Given the description of an element on the screen output the (x, y) to click on. 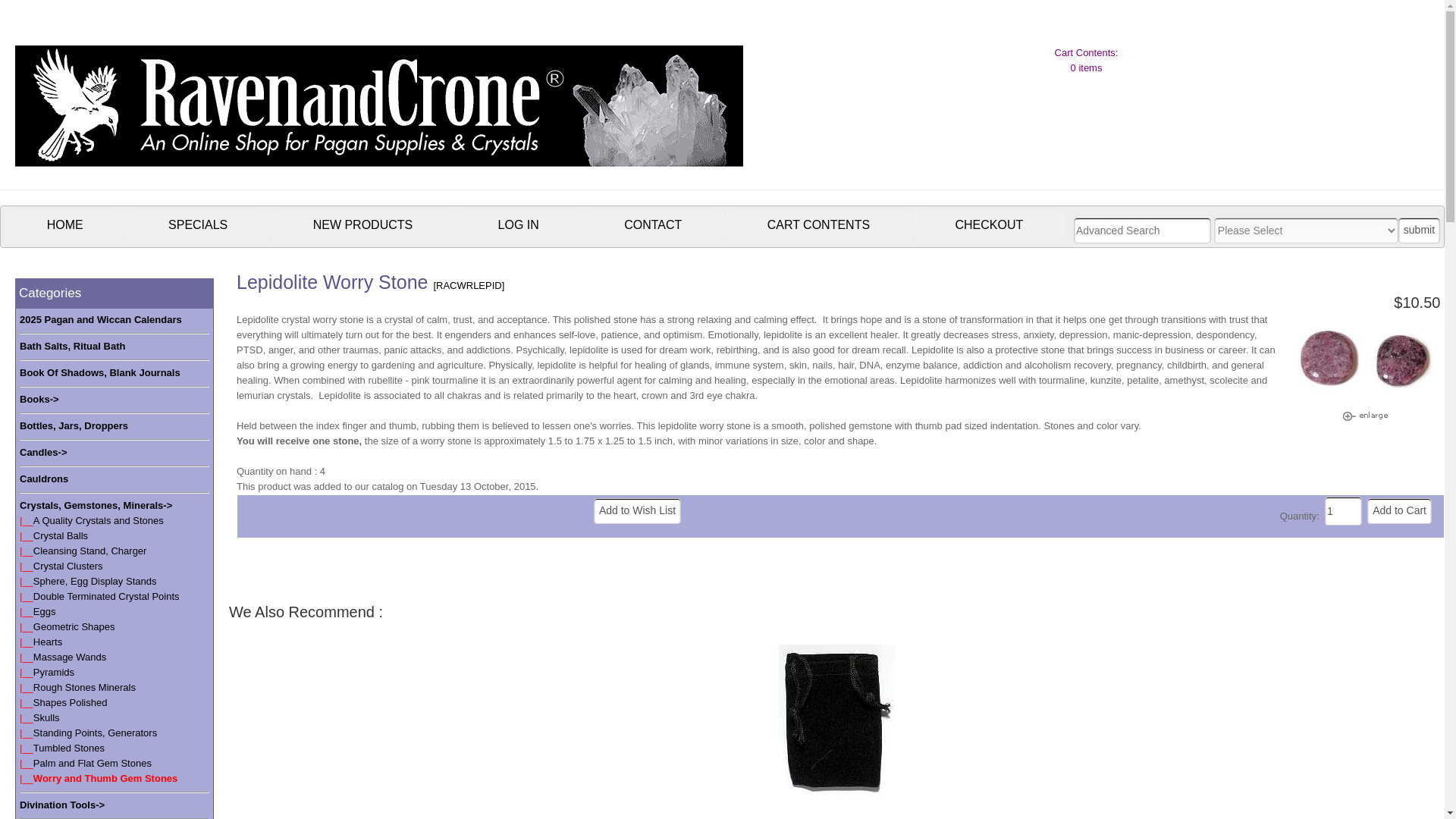
2025 Pagan and Wiccan Calendars (101, 319)
 RV34BK: Black Velveteen Bag 3 x 4  (837, 720)
Sphere, Egg Display Stands (95, 581)
Add to Wish List (637, 510)
Add to Cart (1399, 510)
Bath Salts, Ritual Bath (72, 346)
Double Terminated Crystal Points (106, 596)
Raven And Crone (378, 154)
Crystal Clusters (68, 566)
Add to Wish List (637, 510)
 Lepidolite Worry Stone  (1364, 358)
 Click to enlarge  (1365, 416)
Crystal Balls (60, 535)
Bottles, Jars, Droppers (74, 426)
Cleansing Stand, Charger (90, 550)
